Given the description of an element on the screen output the (x, y) to click on. 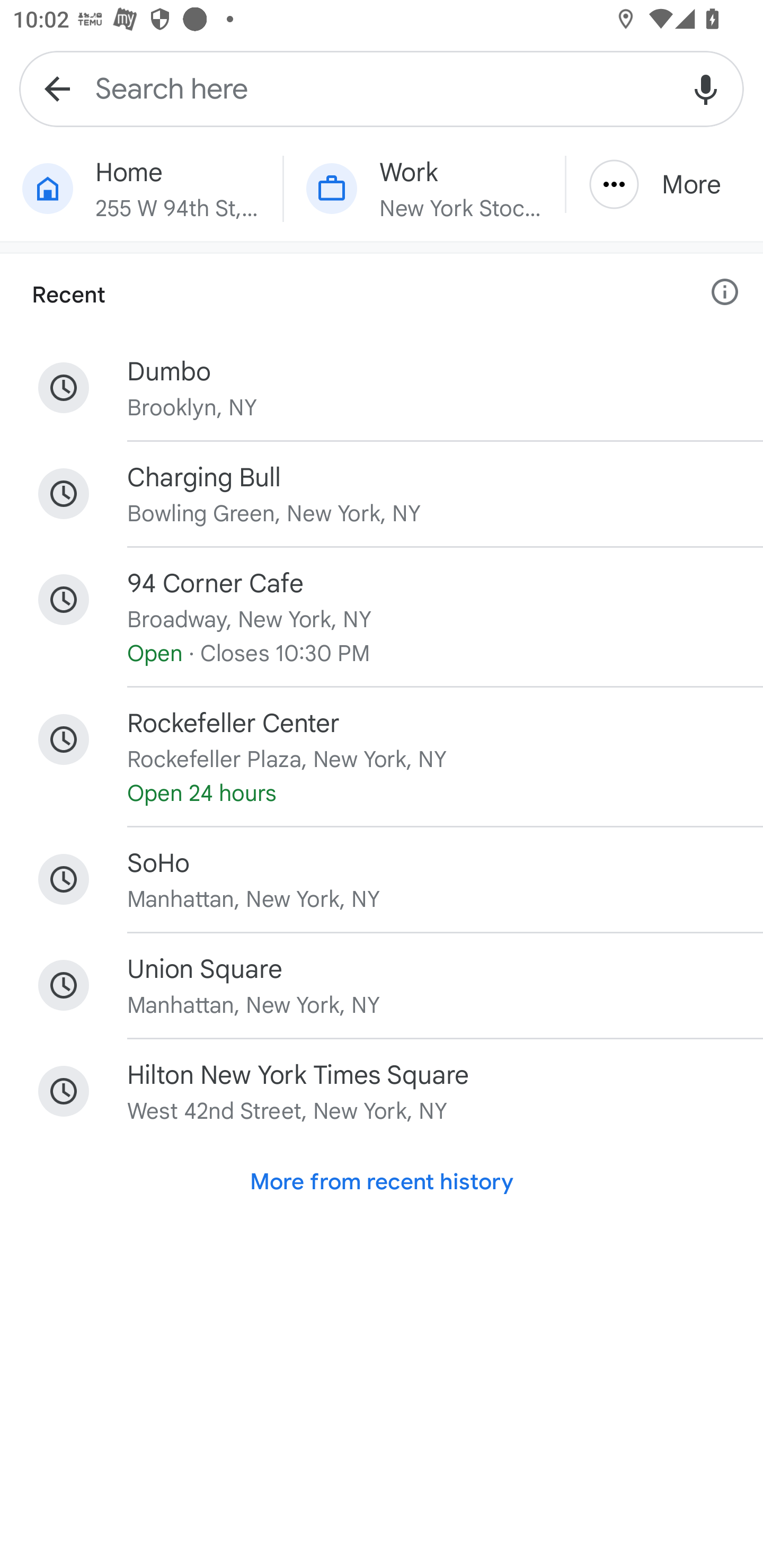
Navigate up (57, 88)
Search here (381, 88)
Voice search (705, 88)
More (664, 184)
Dumbo Brooklyn, NY (381, 387)
Charging Bull Bowling Green, New York, NY (381, 493)
SoHo Manhattan, New York, NY (381, 879)
Union Square Manhattan, New York, NY (381, 985)
More from recent history (381, 1181)
